Given the description of an element on the screen output the (x, y) to click on. 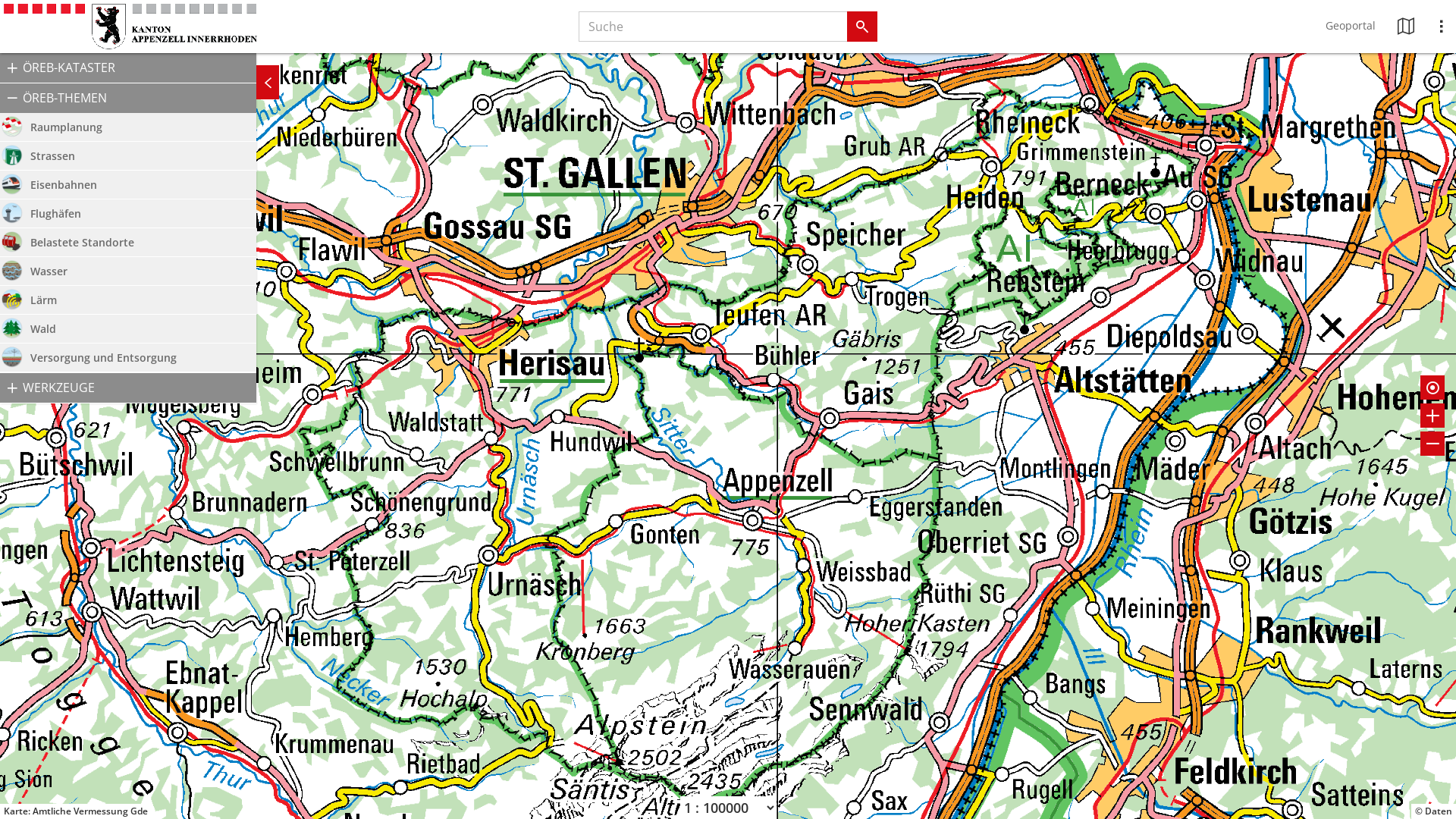
Geoportal Element type: text (1350, 26)
Hintergrund Element type: hover (1405, 26)
Suche Element type: hover (862, 26)
Ihre Position Element type: hover (1432, 388)
Zoom In Element type: hover (1432, 416)
Zoom Out Element type: hover (1432, 444)
